Given the description of an element on the screen output the (x, y) to click on. 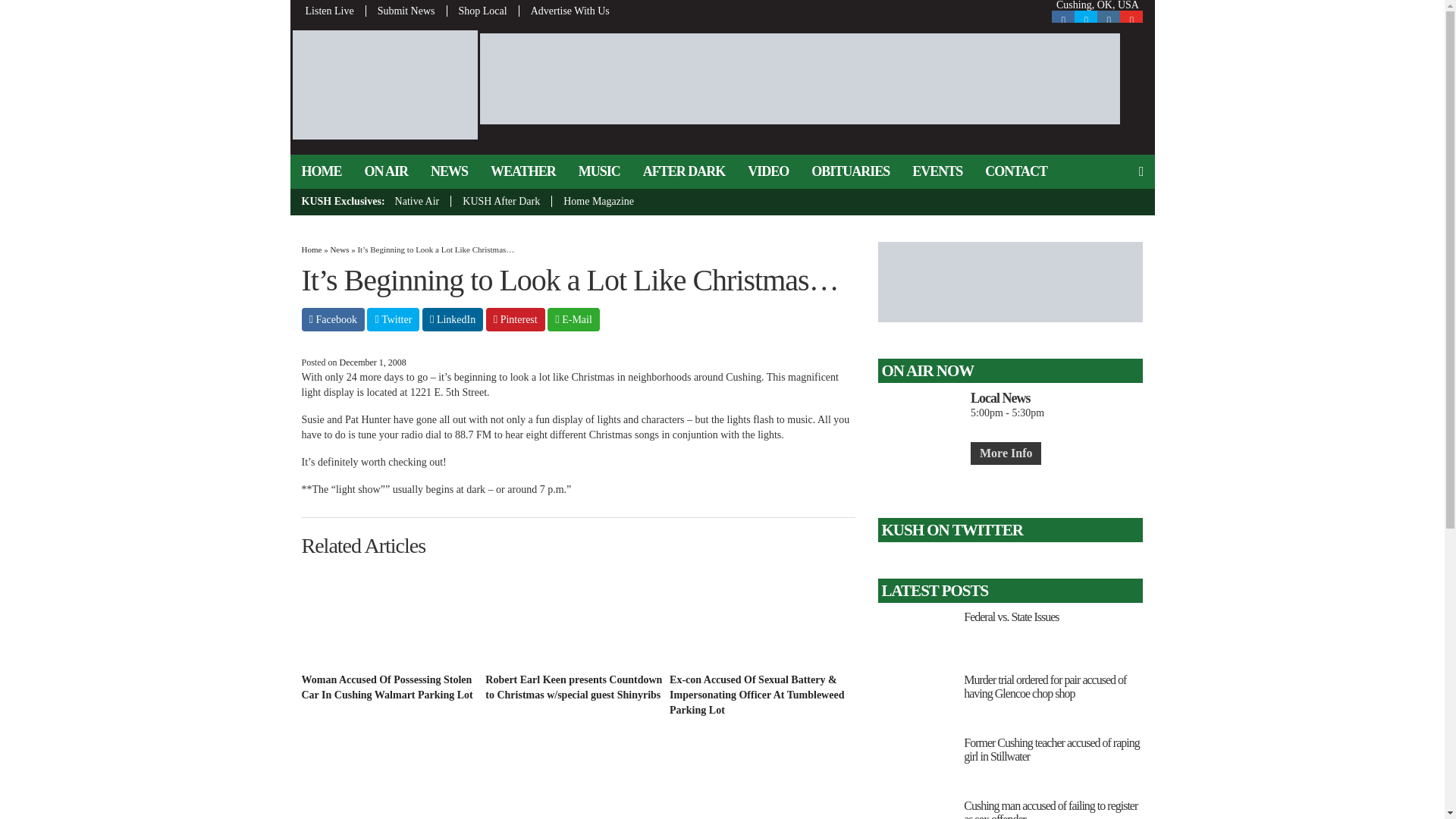
VIDEO (767, 171)
12:00 am (372, 362)
AFTER DARK (683, 171)
Share to E-Mail (573, 319)
A lot going on everywhere (390, 785)
Share to Twitter (392, 319)
HOME (320, 171)
Advertise With Us (564, 10)
Share to Facebook (333, 319)
